Given the description of an element on the screen output the (x, y) to click on. 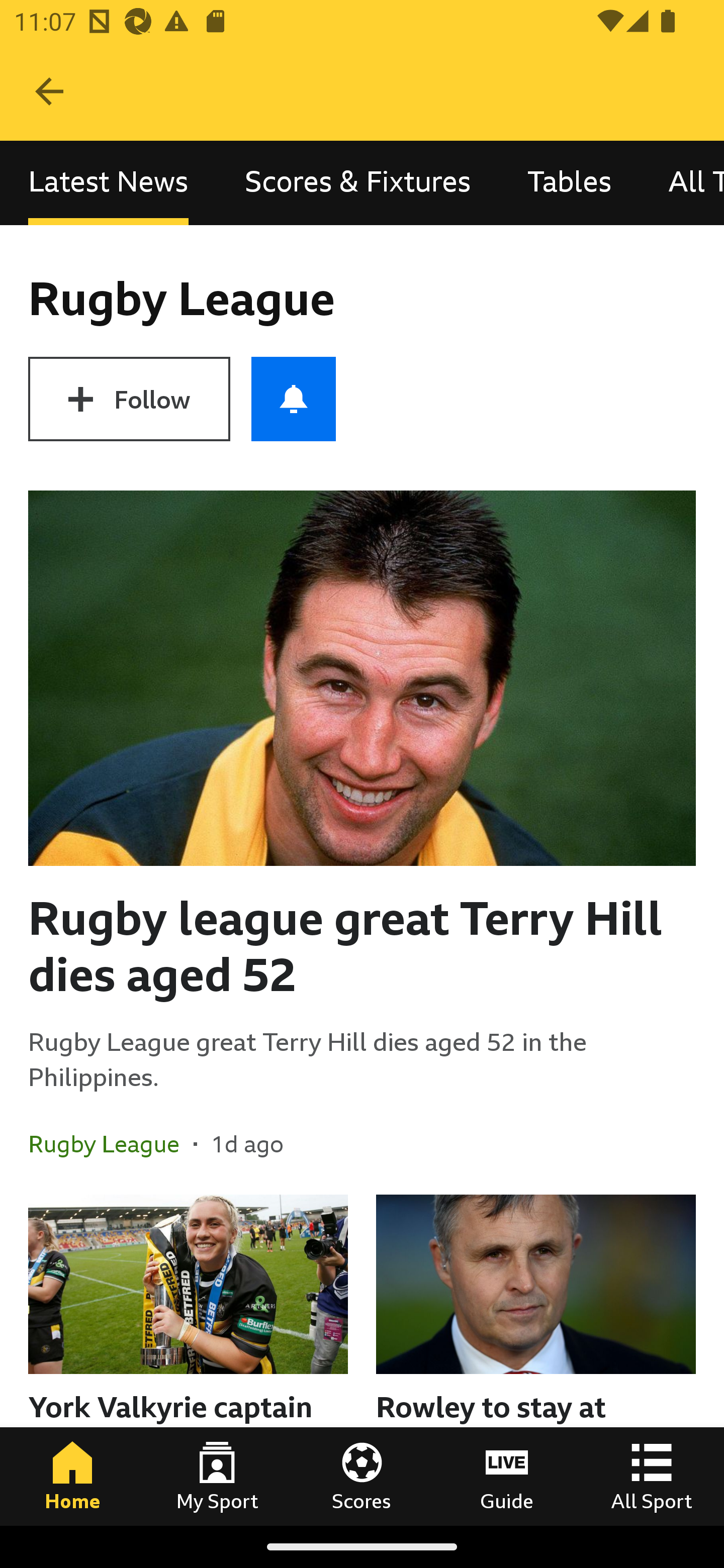
Navigate up (49, 91)
Latest News, selected Latest News (108, 183)
Scores & Fixtures (357, 183)
Tables (569, 183)
Follow Rugby League Follow (129, 398)
Push notifications for Rugby League (293, 398)
My Sport (216, 1475)
Scores (361, 1475)
Guide (506, 1475)
All Sport (651, 1475)
